Given the description of an element on the screen output the (x, y) to click on. 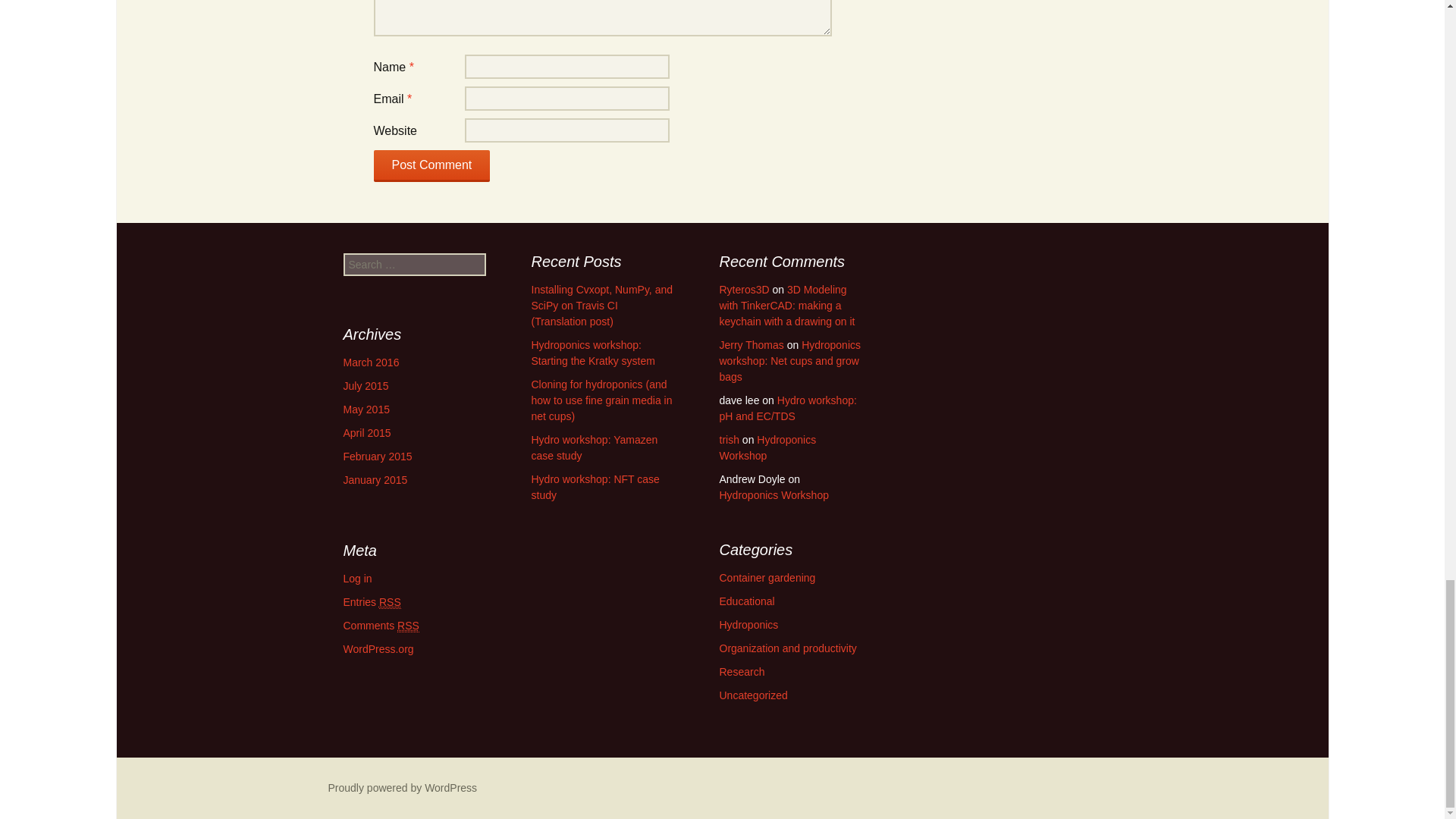
Hydroponics Workshop (773, 494)
Post Comment (430, 165)
Hydroponics Workshop (767, 447)
March 2016 (370, 362)
Hydroponics workshop: Net cups and grow bags (789, 361)
May 2015 (365, 409)
Jerry Thomas (751, 345)
Hydroponics workshop: Starting the Kratky system (592, 352)
Post Comment (430, 165)
January 2015 (374, 480)
July 2015 (365, 386)
Hydro workshop: Yamazen case study (594, 447)
Hydro workshop: NFT case study (595, 487)
February 2015 (377, 456)
